Given the description of an element on the screen output the (x, y) to click on. 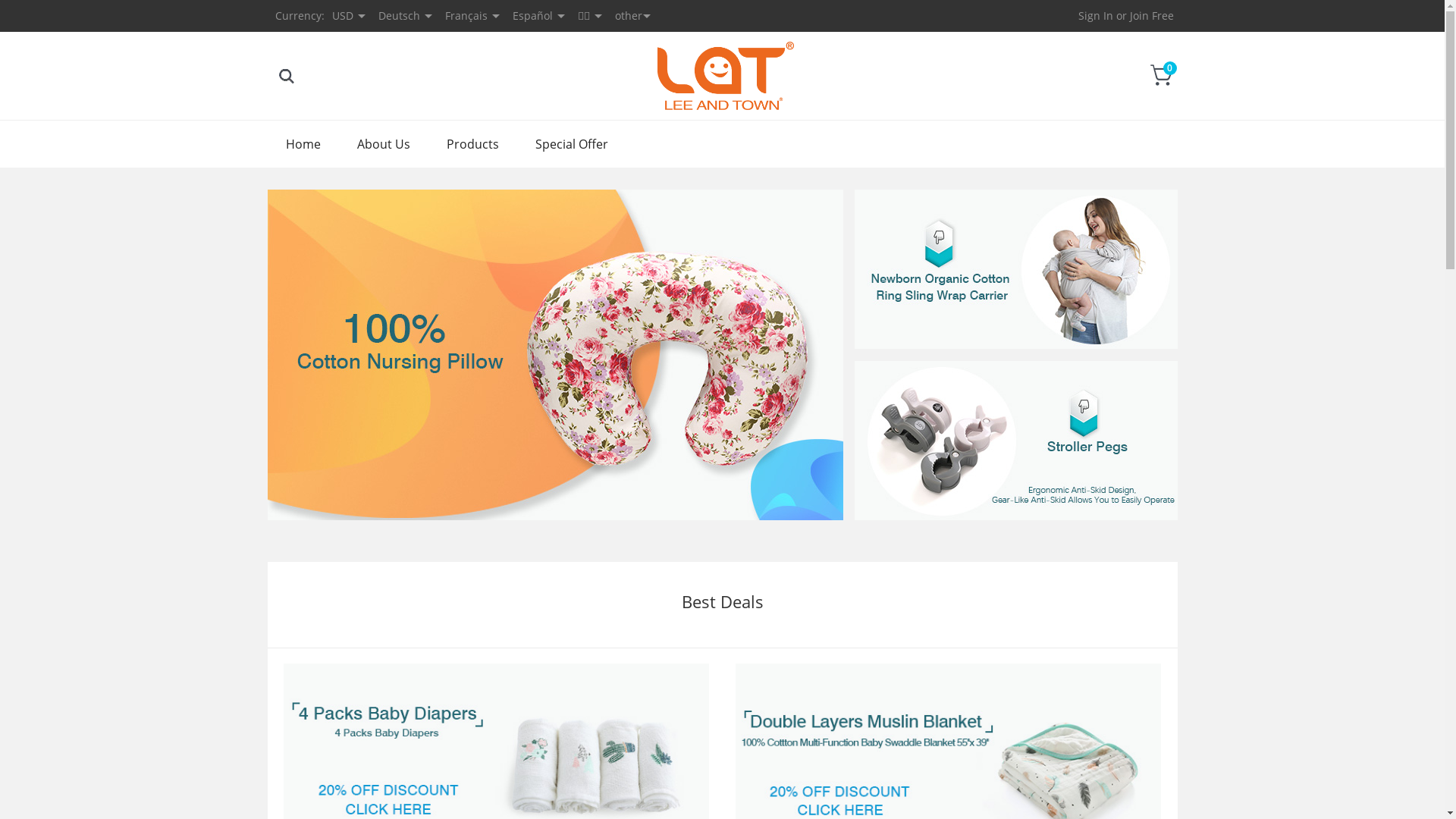
baby carrier sling Element type: hover (1014, 268)
About Us Element type: text (382, 143)
stroller pegs Element type: hover (1014, 440)
Products Element type: text (471, 143)
Deutsch Element type: text (398, 15)
Home Element type: text (302, 143)
Sign In Element type: text (1095, 15)
Join Free Element type: text (1151, 15)
Special Offer Element type: text (571, 143)
0 Element type: text (1161, 74)
